Given the description of an element on the screen output the (x, y) to click on. 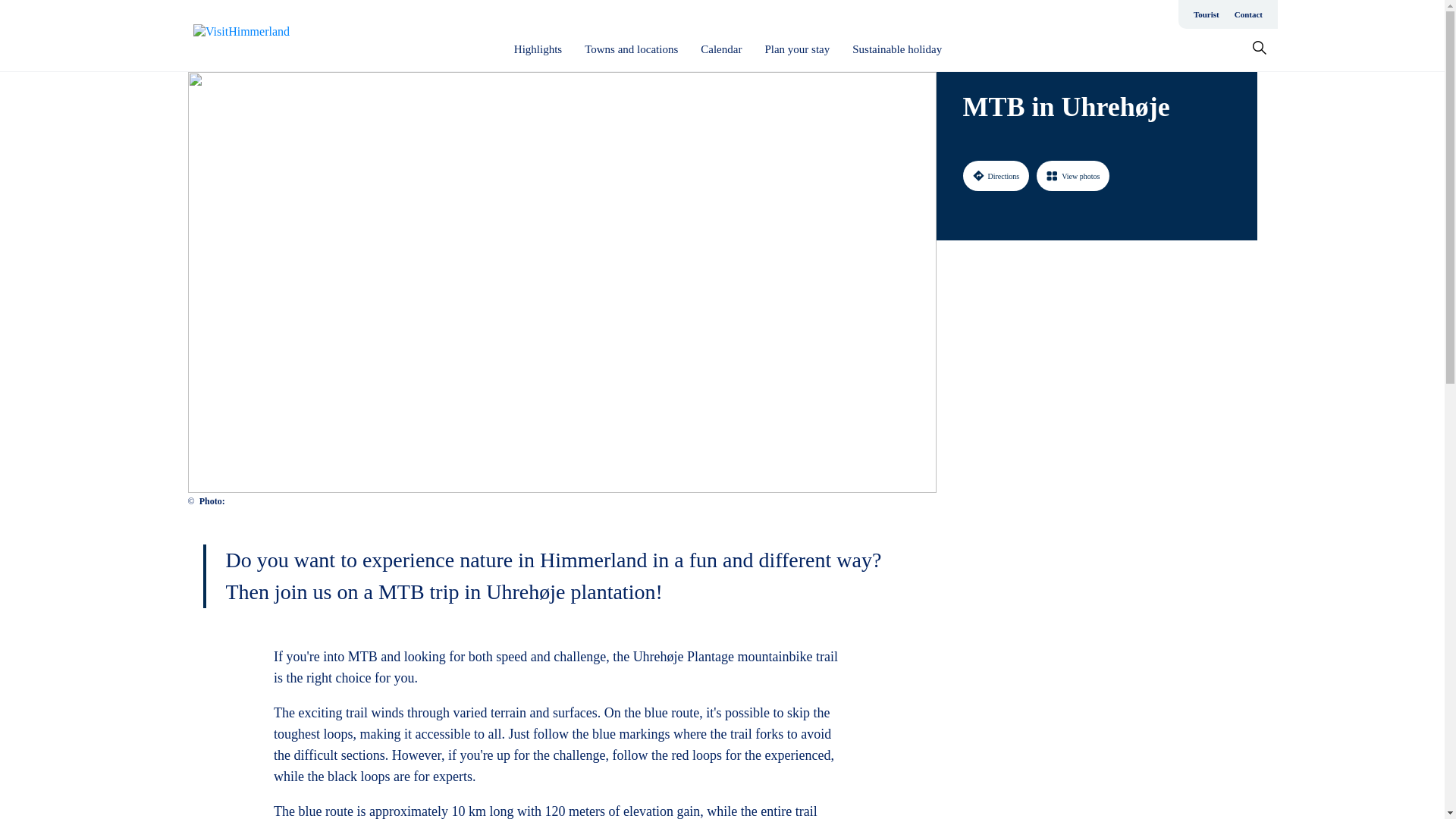
Go to homepage (253, 35)
Towns and locations (631, 49)
Highlights (537, 49)
Sustainable holiday (896, 49)
Plan your stay (796, 49)
Contact (1248, 14)
Calendar (720, 49)
View photos (1072, 175)
Tourist (1206, 14)
Directions (995, 175)
